Given the description of an element on the screen output the (x, y) to click on. 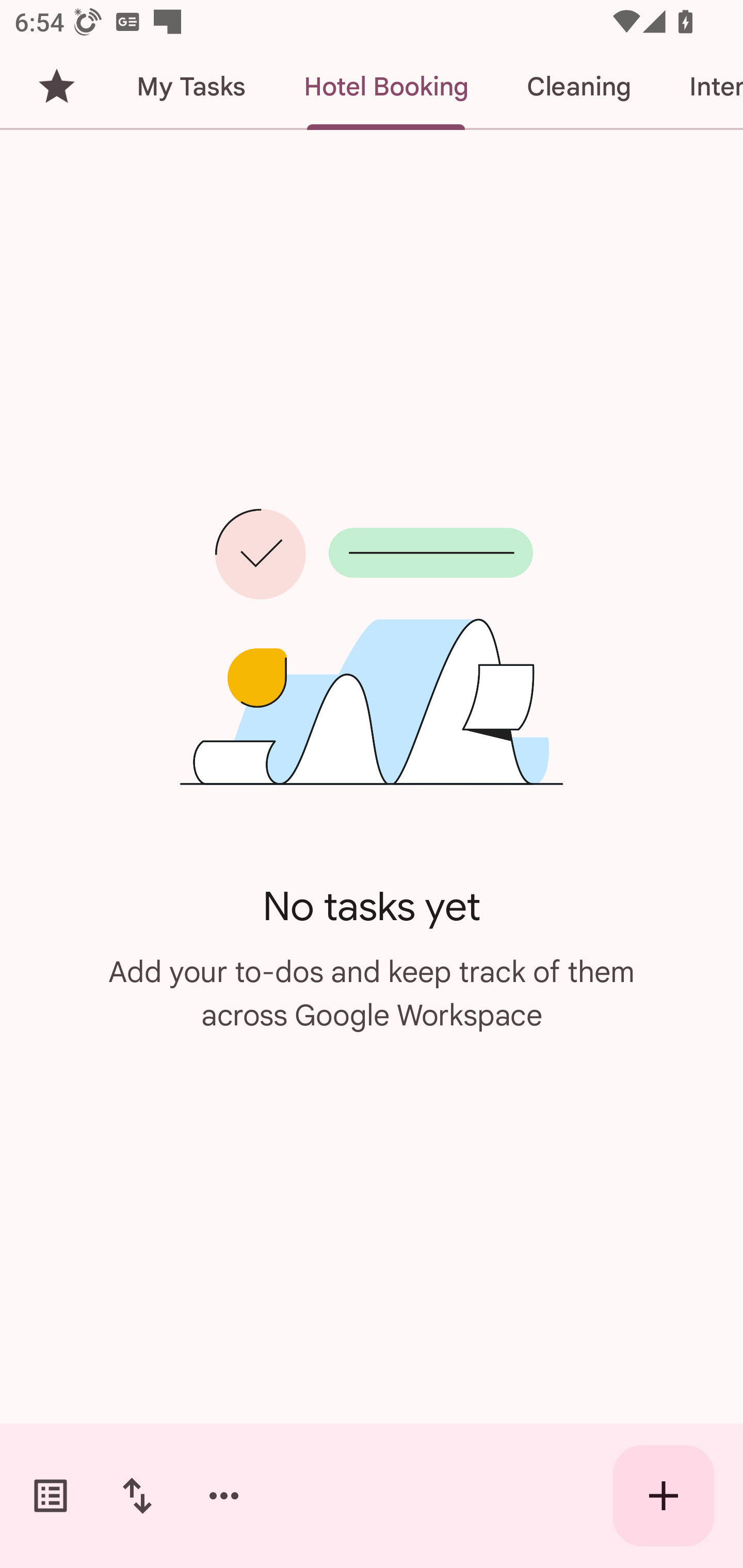
Starred (55, 86)
My Tasks (190, 86)
Cleaning (578, 86)
Interview (701, 86)
Switch task lists (50, 1495)
Create new task (663, 1495)
Change sort order (136, 1495)
More options (223, 1495)
